Given the description of an element on the screen output the (x, y) to click on. 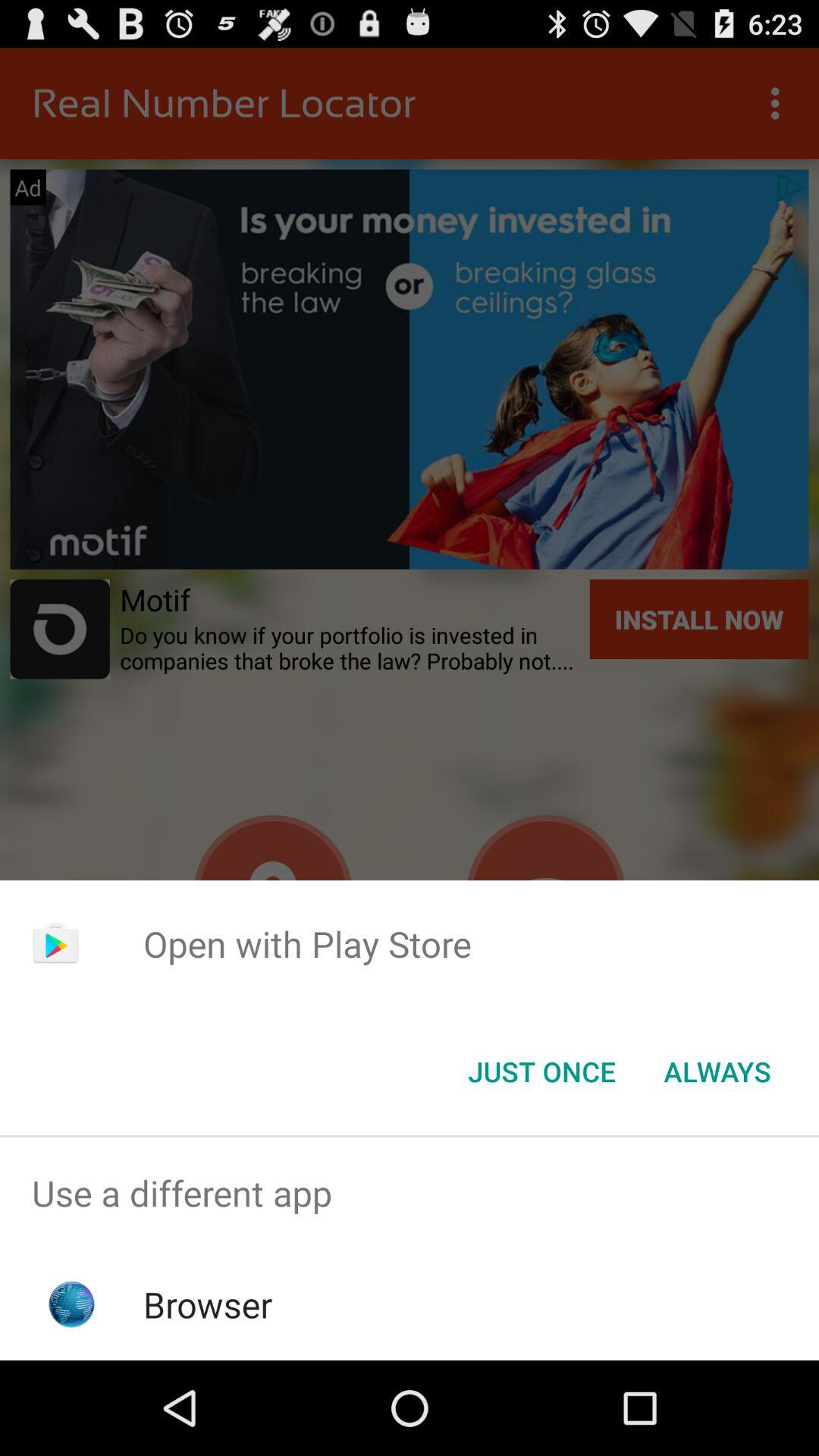
swipe to the use a different item (409, 1192)
